Given the description of an element on the screen output the (x, y) to click on. 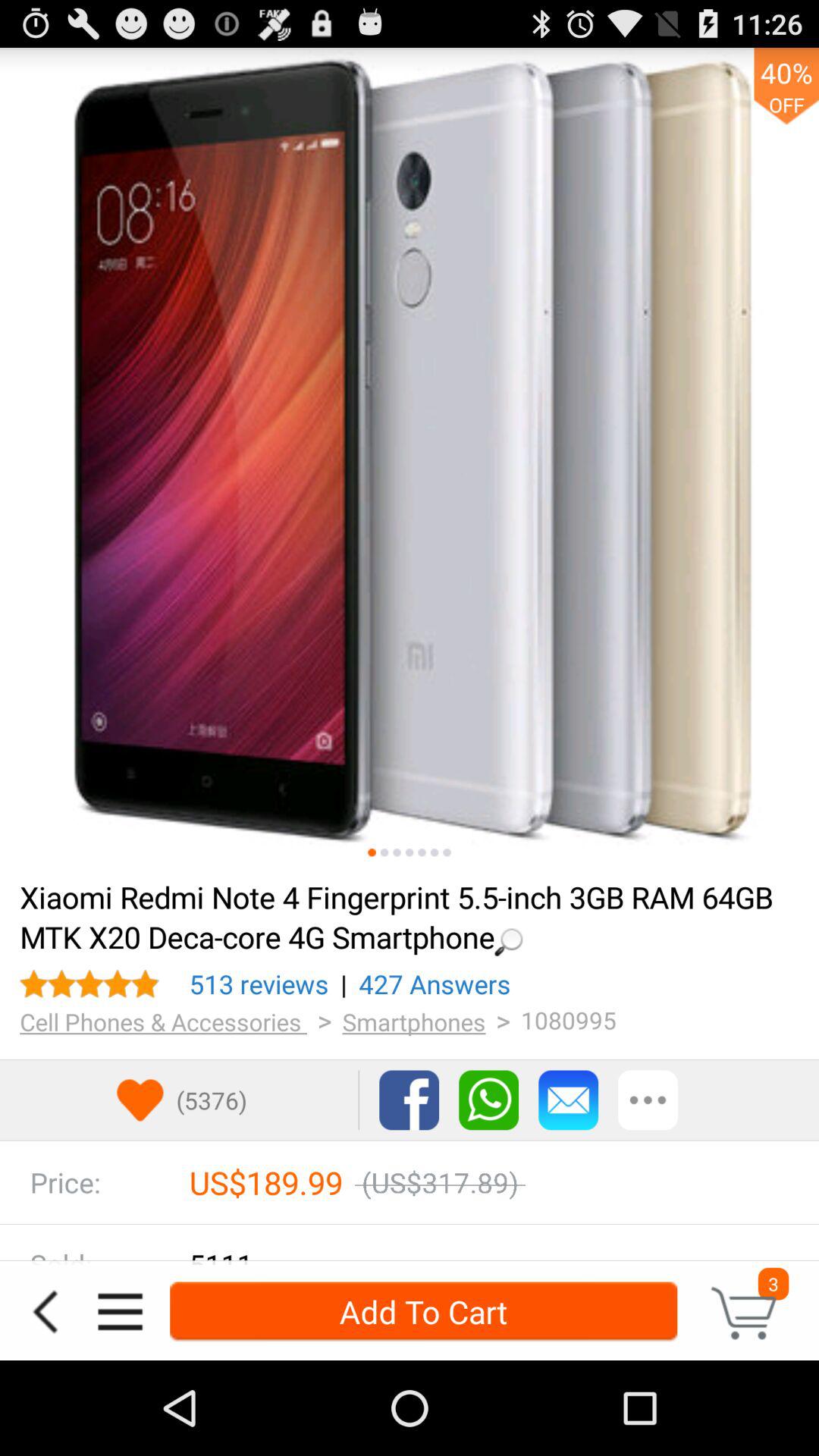
open the item above loading... icon (447, 852)
